Given the description of an element on the screen output the (x, y) to click on. 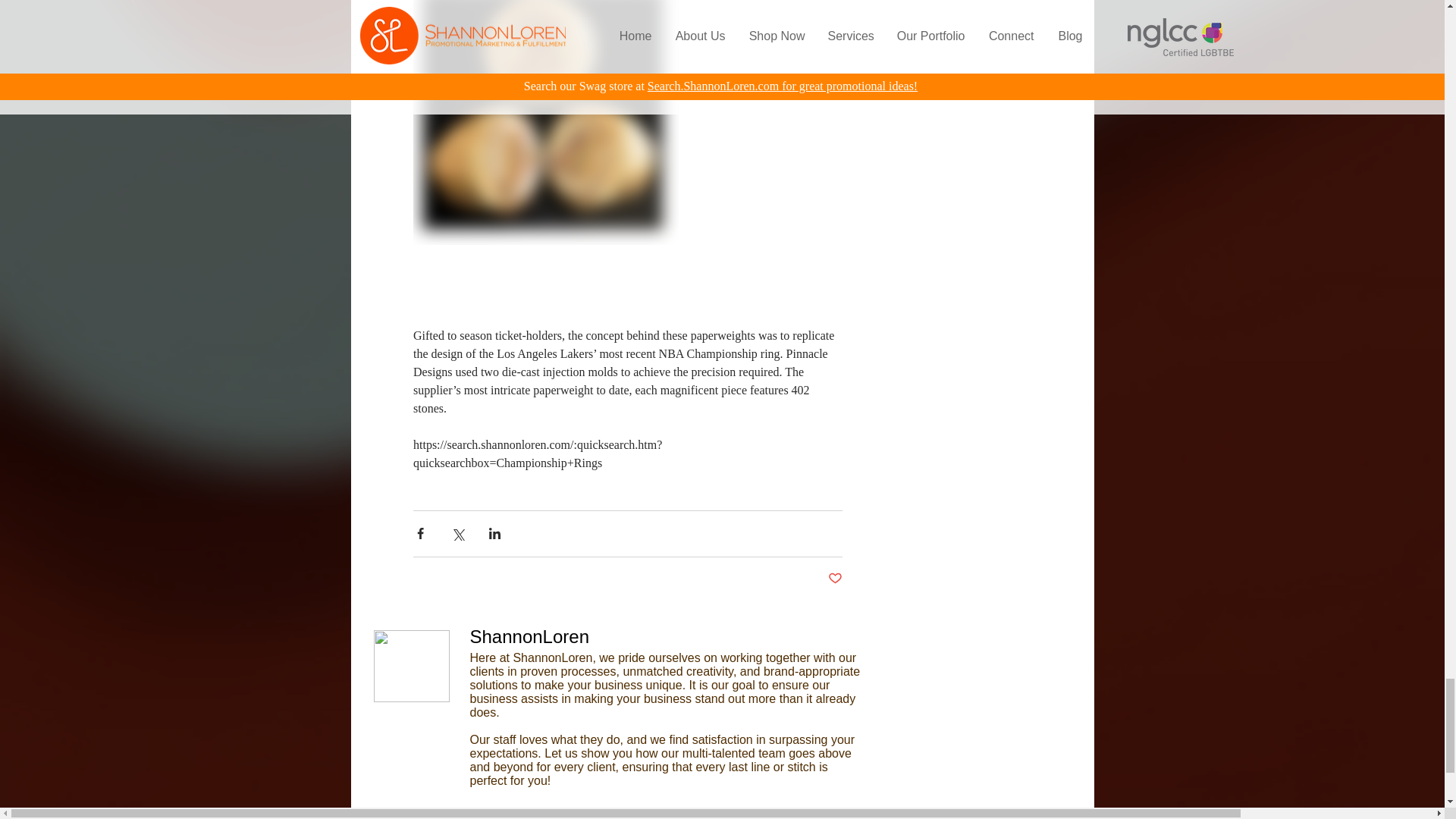
Post not marked as liked (835, 578)
